Given the description of an element on the screen output the (x, y) to click on. 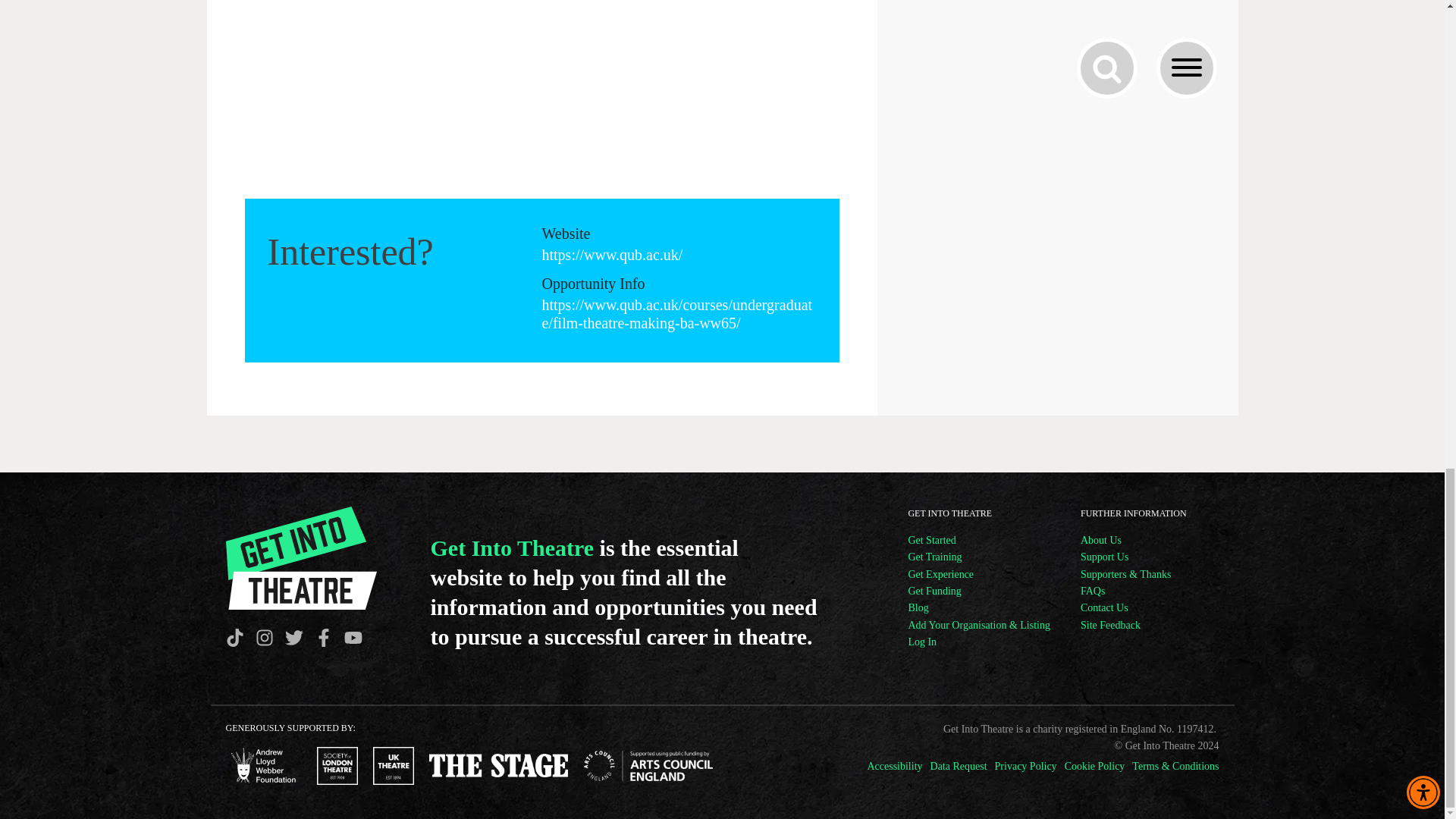
Get Training (978, 556)
Blog (978, 607)
Get Funding (978, 591)
Support Us (1126, 556)
Get Experience (978, 574)
Log In (978, 641)
About Us (1126, 540)
Get Started (978, 540)
FAQs (1126, 591)
